Given the description of an element on the screen output the (x, y) to click on. 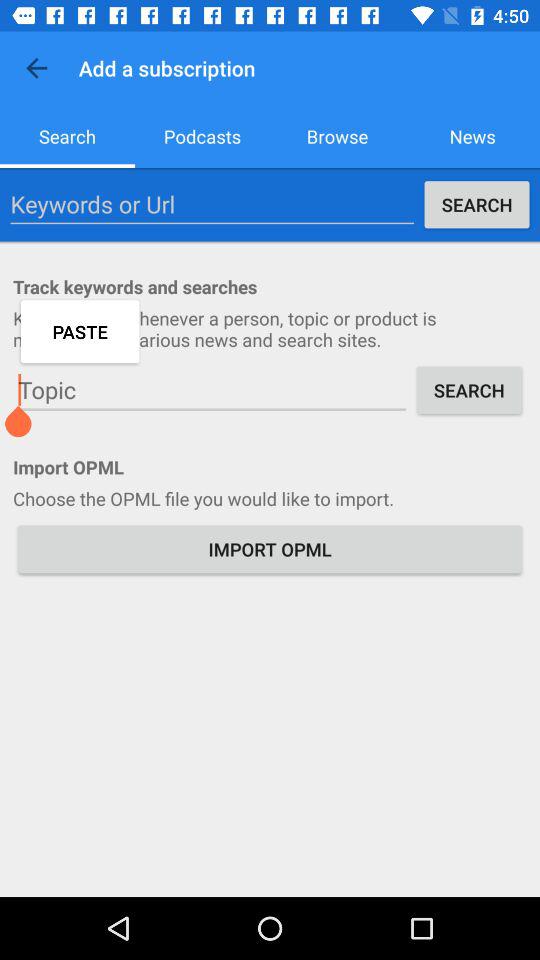
choose item to the left of the search item (212, 390)
